Given the description of an element on the screen output the (x, y) to click on. 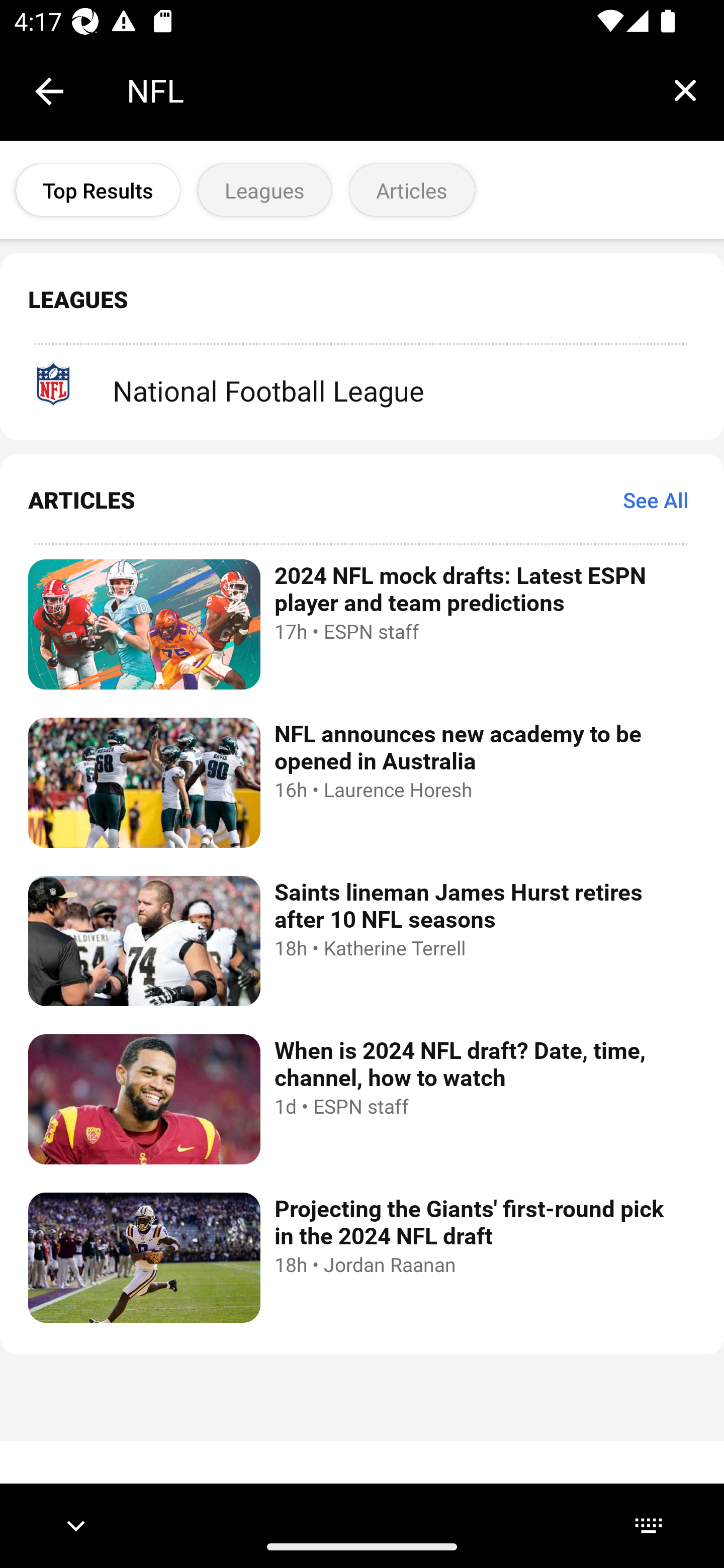
Collapse (49, 91)
Clear query (685, 89)
NFL (386, 90)
Top Results (97, 190)
Leagues (264, 190)
Articles (411, 190)
National Football League (362, 382)
See All (655, 499)
